Given the description of an element on the screen output the (x, y) to click on. 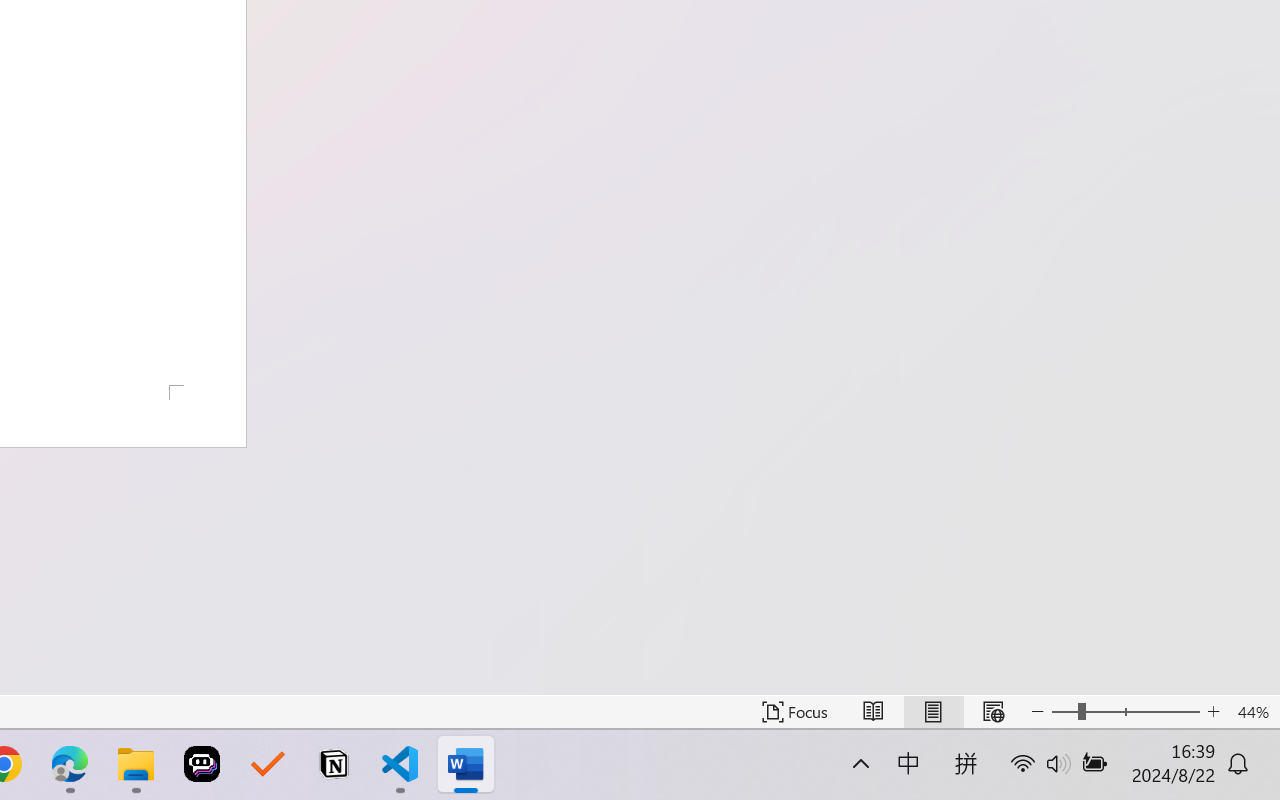
Zoom 44% (1253, 712)
